Given the description of an element on the screen output the (x, y) to click on. 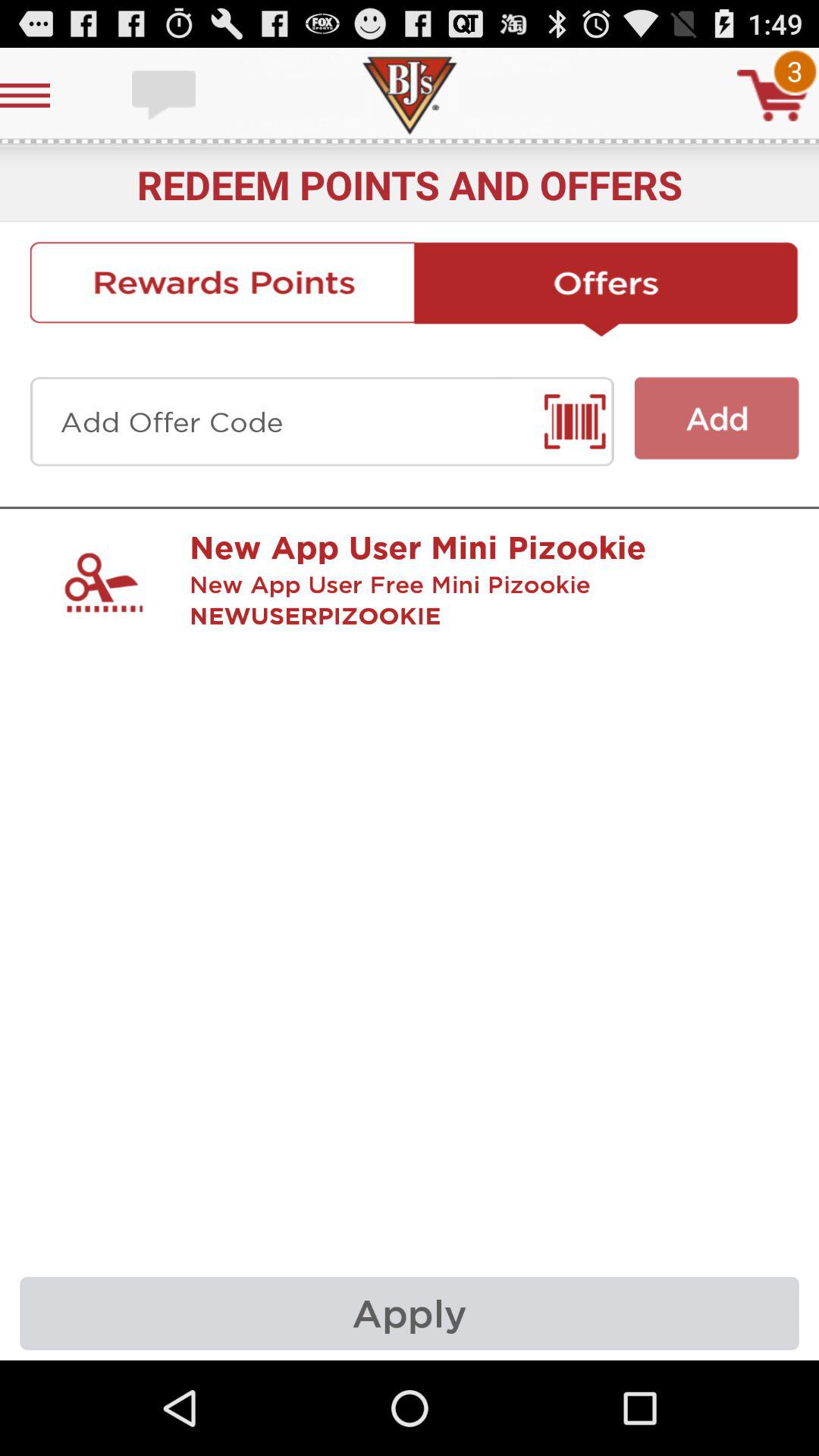
offer code (322, 421)
